Given the description of an element on the screen output the (x, y) to click on. 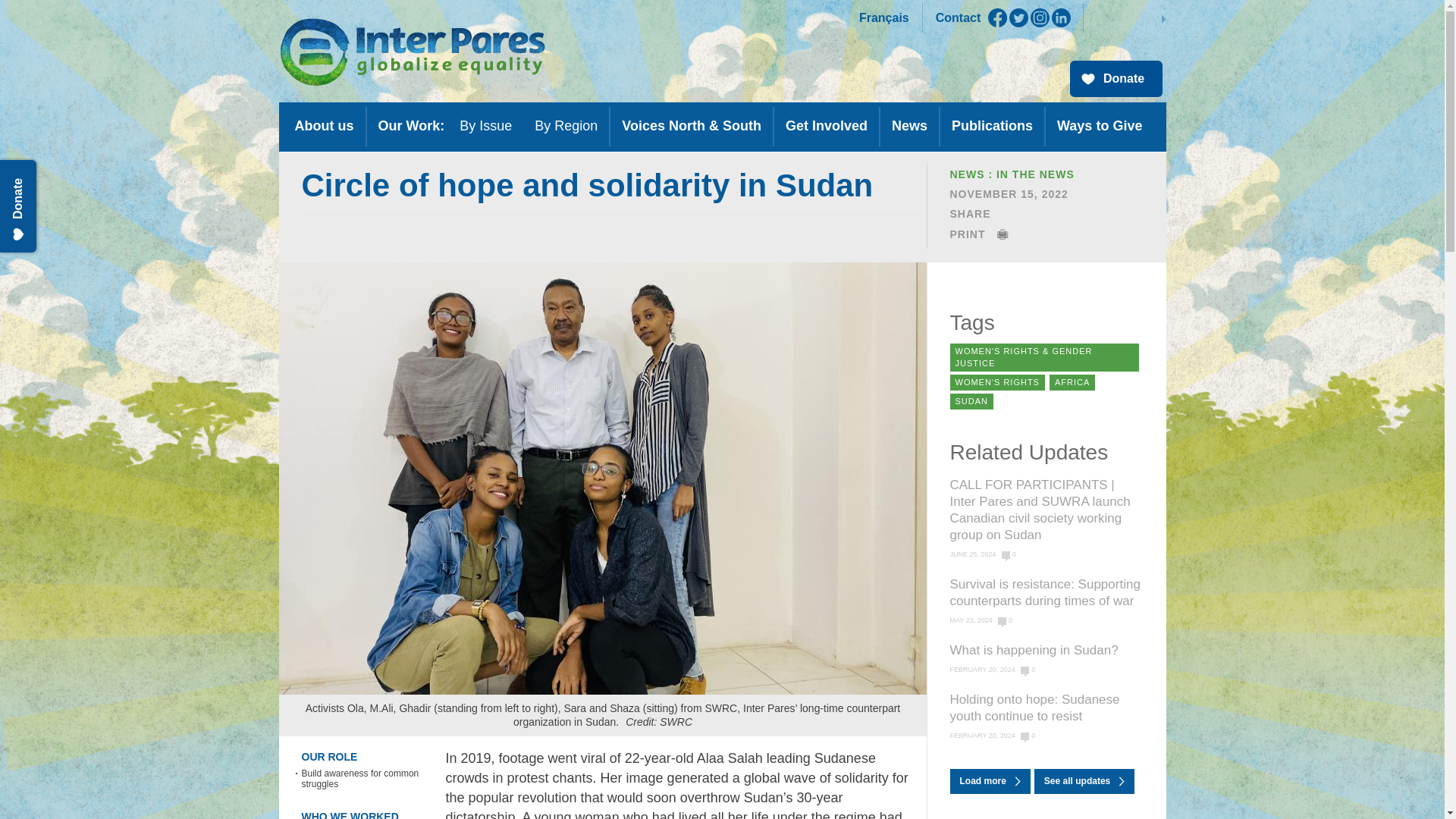
Contact (958, 17)
Instagram (1039, 17)
Search (1124, 17)
Facebook (997, 17)
Inter Pares globalize equality (412, 52)
Donate Button (1114, 79)
Twitter (1018, 17)
Printer friendly version (978, 234)
LinkedIn (1060, 17)
Our Work: (411, 129)
By Issue (485, 129)
About us (324, 129)
